Given the description of an element on the screen output the (x, y) to click on. 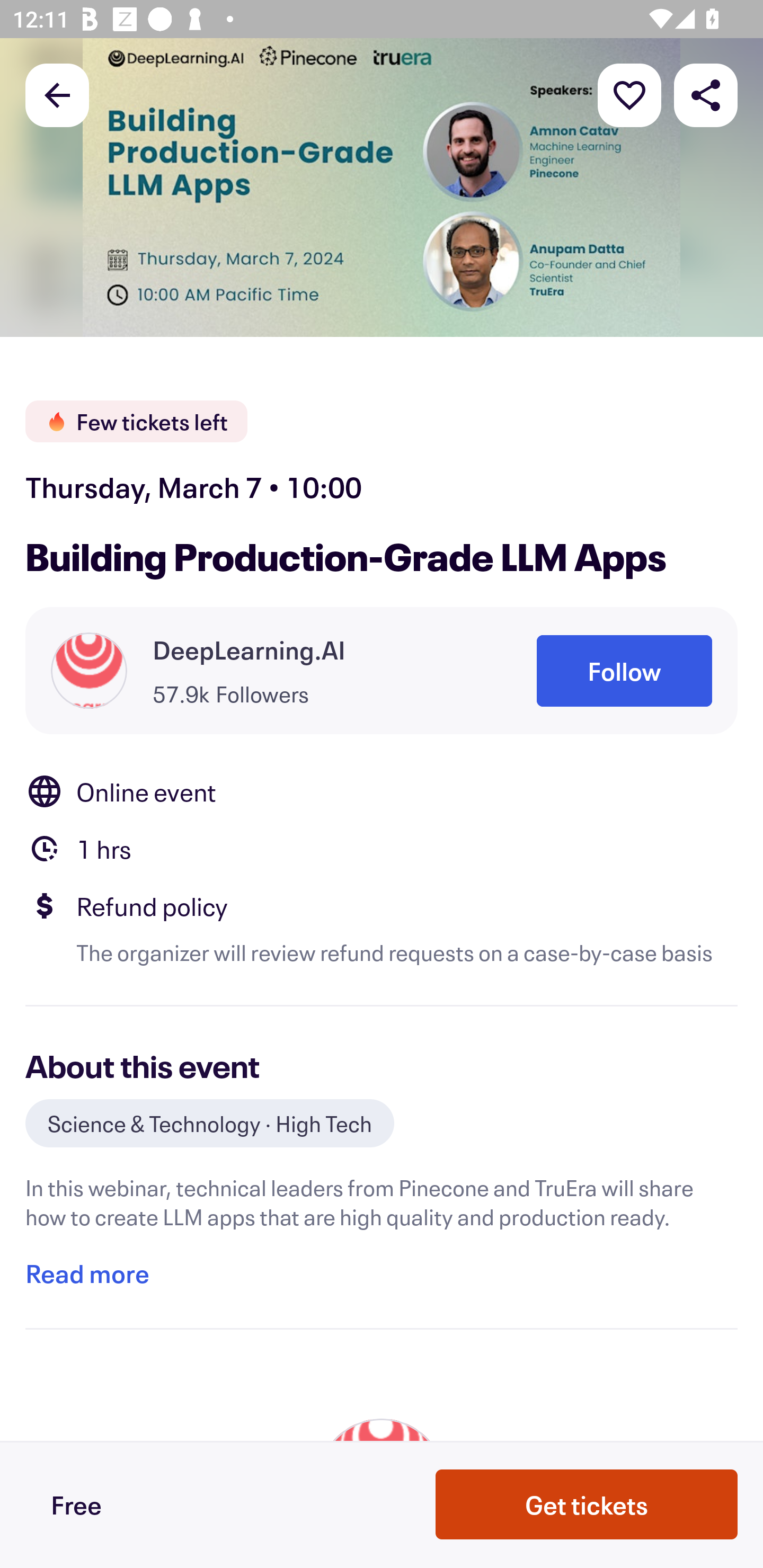
Back (57, 94)
More (629, 94)
Share (705, 94)
DeepLearning.AI (248, 649)
Organizer profile picture (89, 669)
Follow (623, 670)
Location Online event (381, 790)
Read more (87, 1272)
Get tickets (586, 1503)
